Given the description of an element on the screen output the (x, y) to click on. 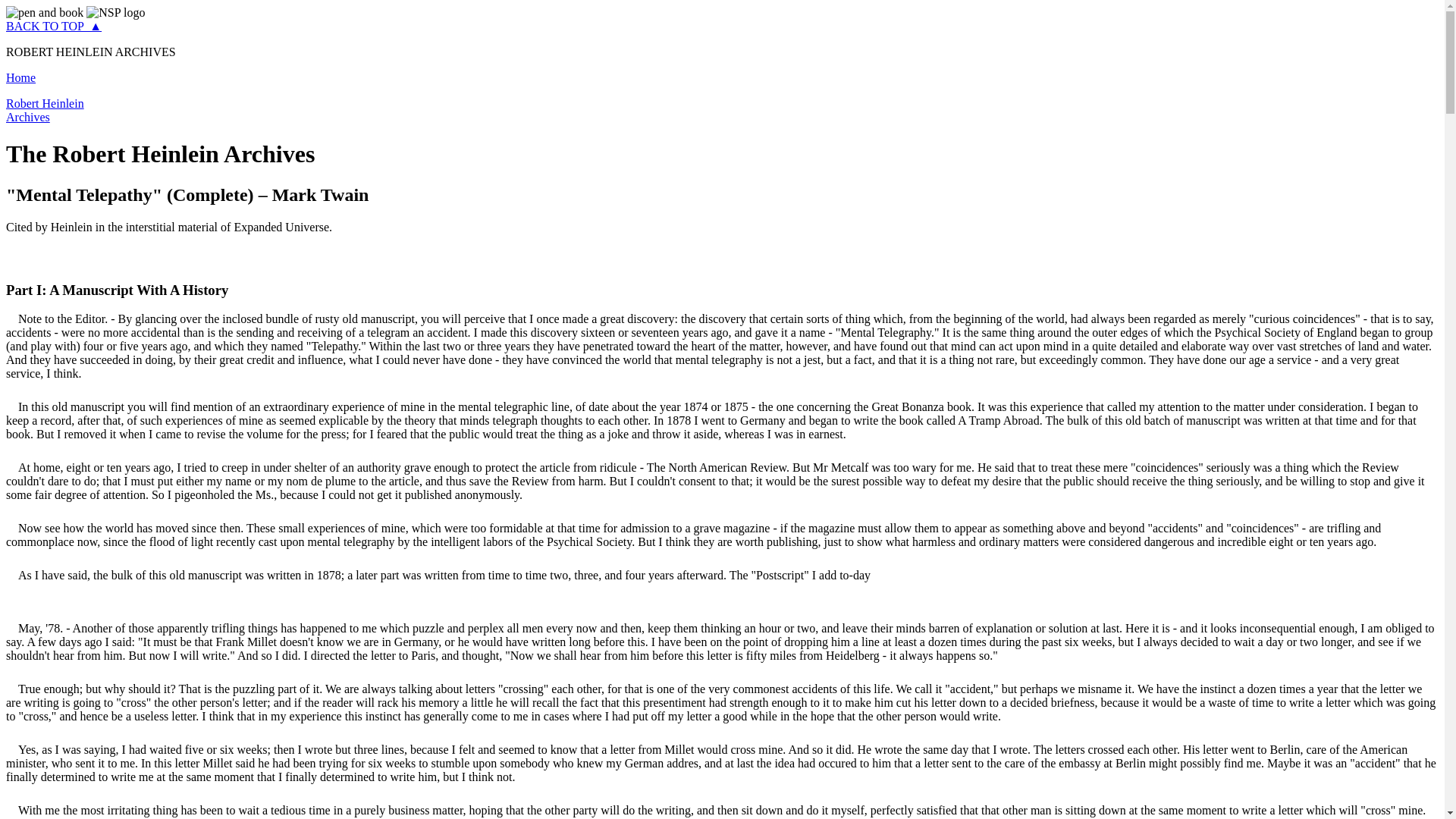
Home (19, 77)
